Given the description of an element on the screen output the (x, y) to click on. 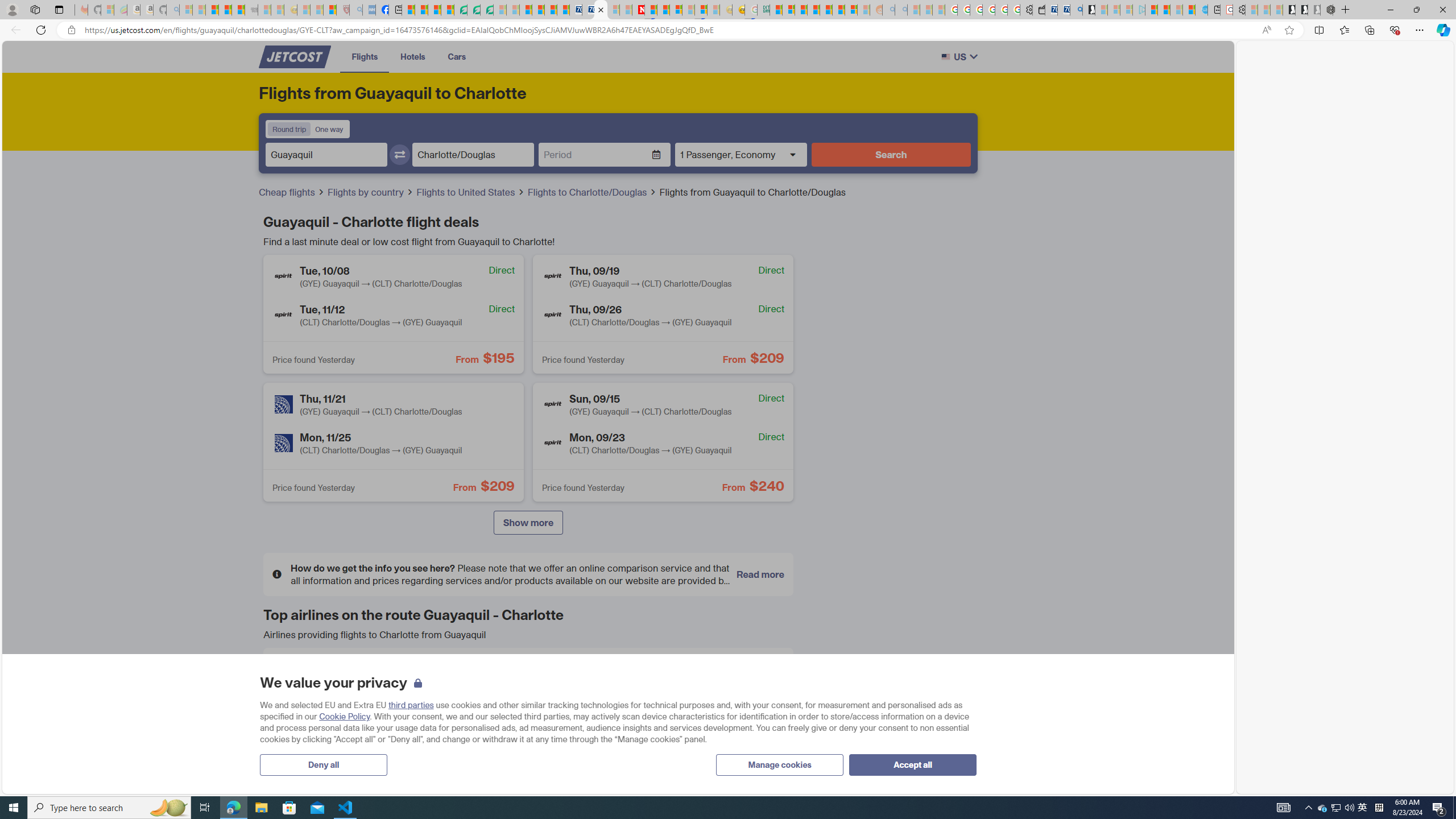
DELTA (290, 715)
Avianca (461, 674)
Close tab (600, 9)
Class: absolute inset-0 (662, 441)
Back (13, 29)
MSNBC - MSN (775, 9)
NCL Adult Asthma Inhaler Choice Guideline - Sleeping (369, 9)
Local - MSN (329, 9)
Collections (1369, 29)
Spirit Airlines Spirit Airlines (699, 716)
